Given the description of an element on the screen output the (x, y) to click on. 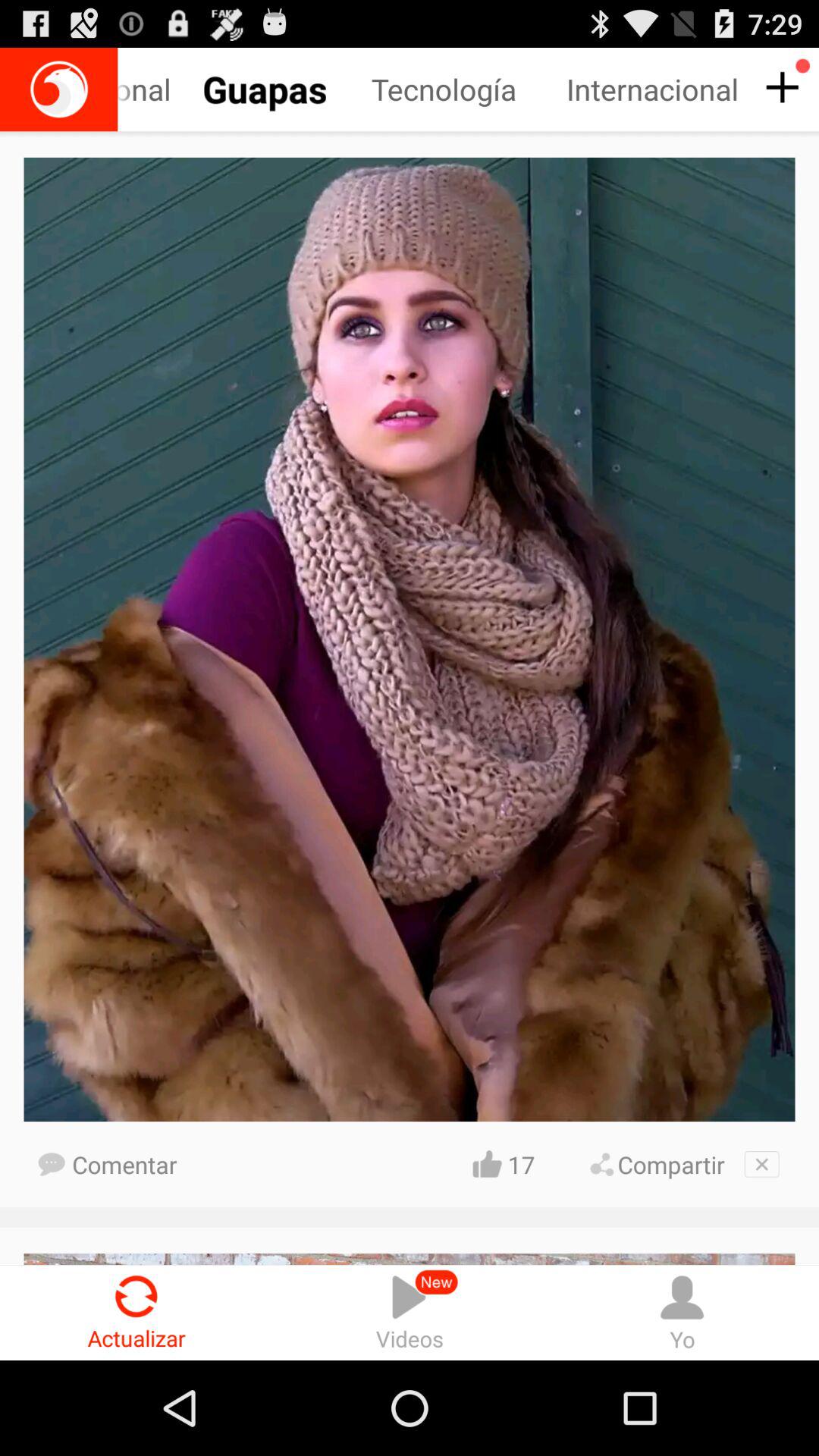
he can activate the simple voice command (58, 89)
